Given the description of an element on the screen output the (x, y) to click on. 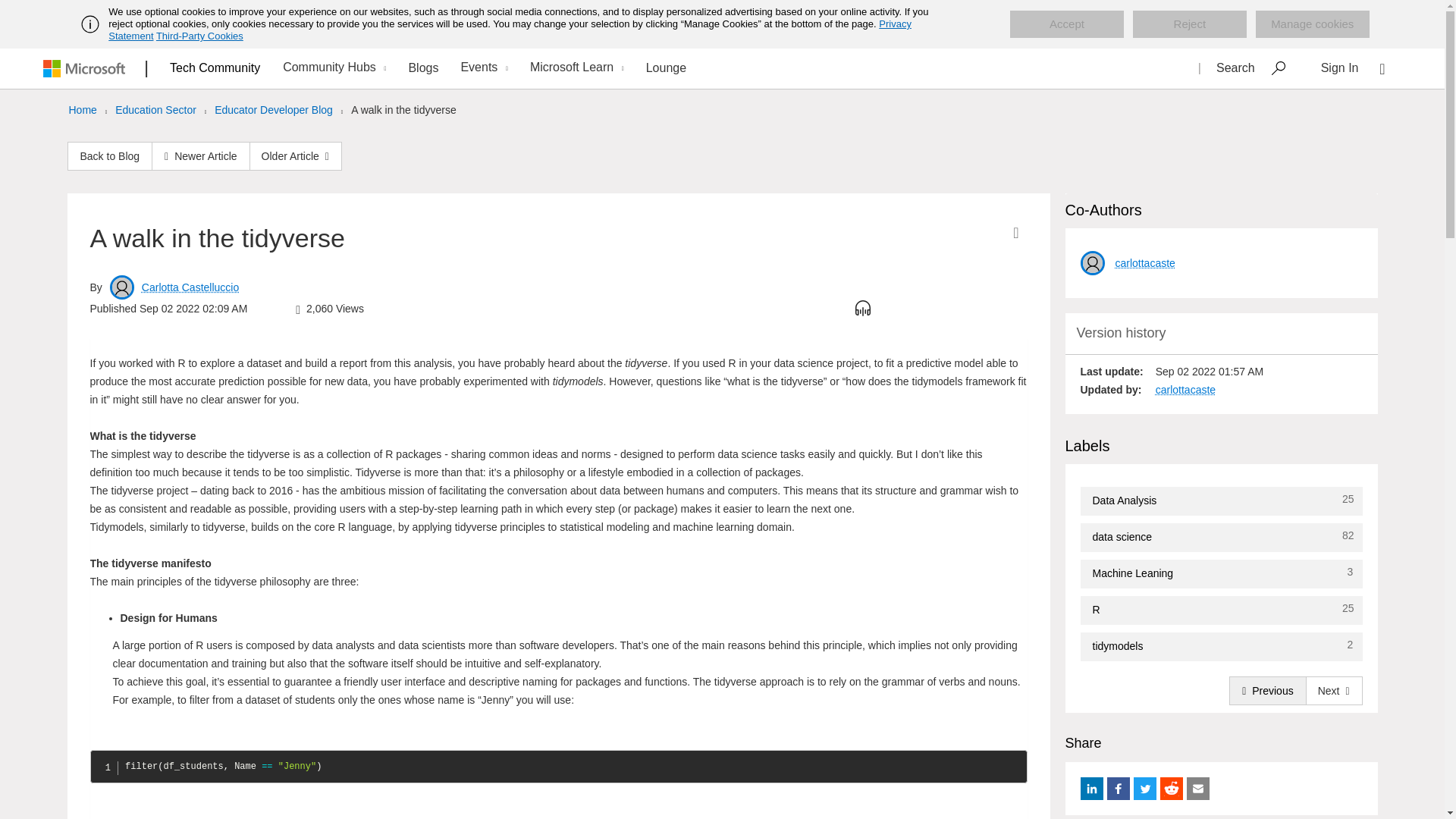
Tech Community (215, 67)
Manage cookies (1312, 23)
Accept (1067, 23)
Privacy Statement (509, 29)
Reject (1189, 23)
Third-Party Cookies (199, 35)
Community Hubs (332, 67)
